Given the description of an element on the screen output the (x, y) to click on. 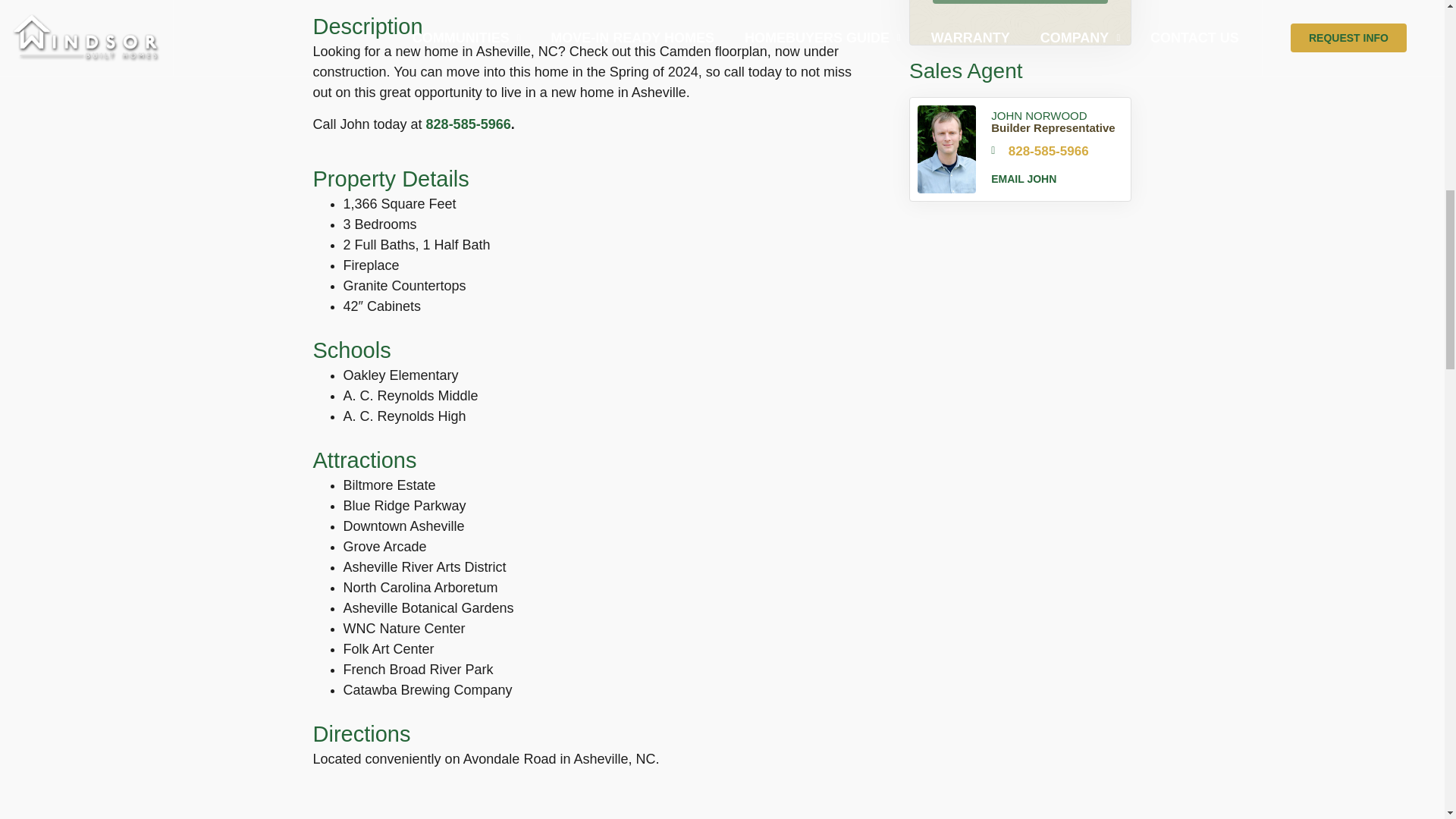
35.550371, -82.489408 (588, 797)
REQUEST INFO (1020, 2)
